Given the description of an element on the screen output the (x, y) to click on. 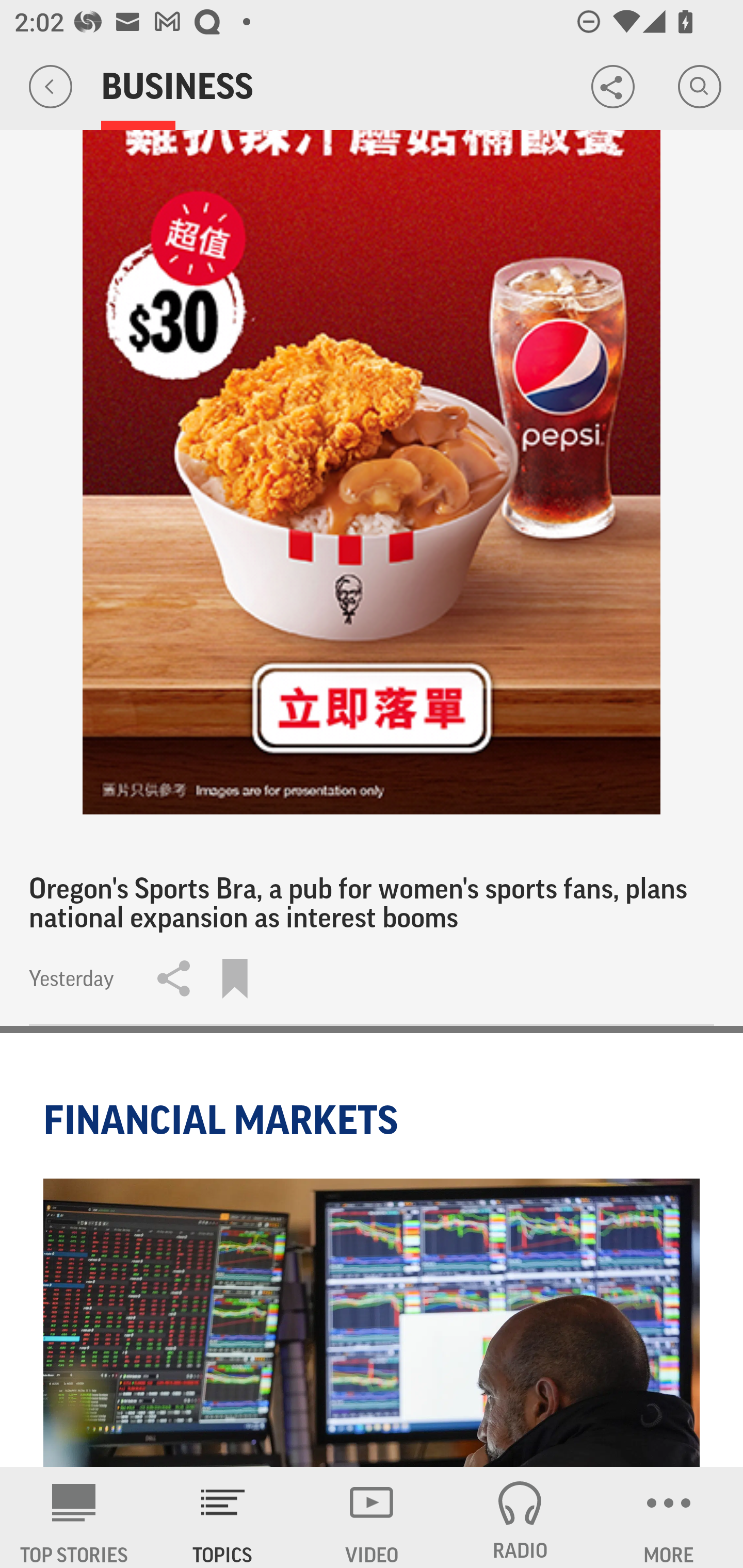
Advertisement (371, 407)
FINANCIAL MARKETS (223, 1120)
AP News TOP STORIES (74, 1517)
TOPICS (222, 1517)
VIDEO (371, 1517)
RADIO (519, 1517)
MORE (668, 1517)
